Given the description of an element on the screen output the (x, y) to click on. 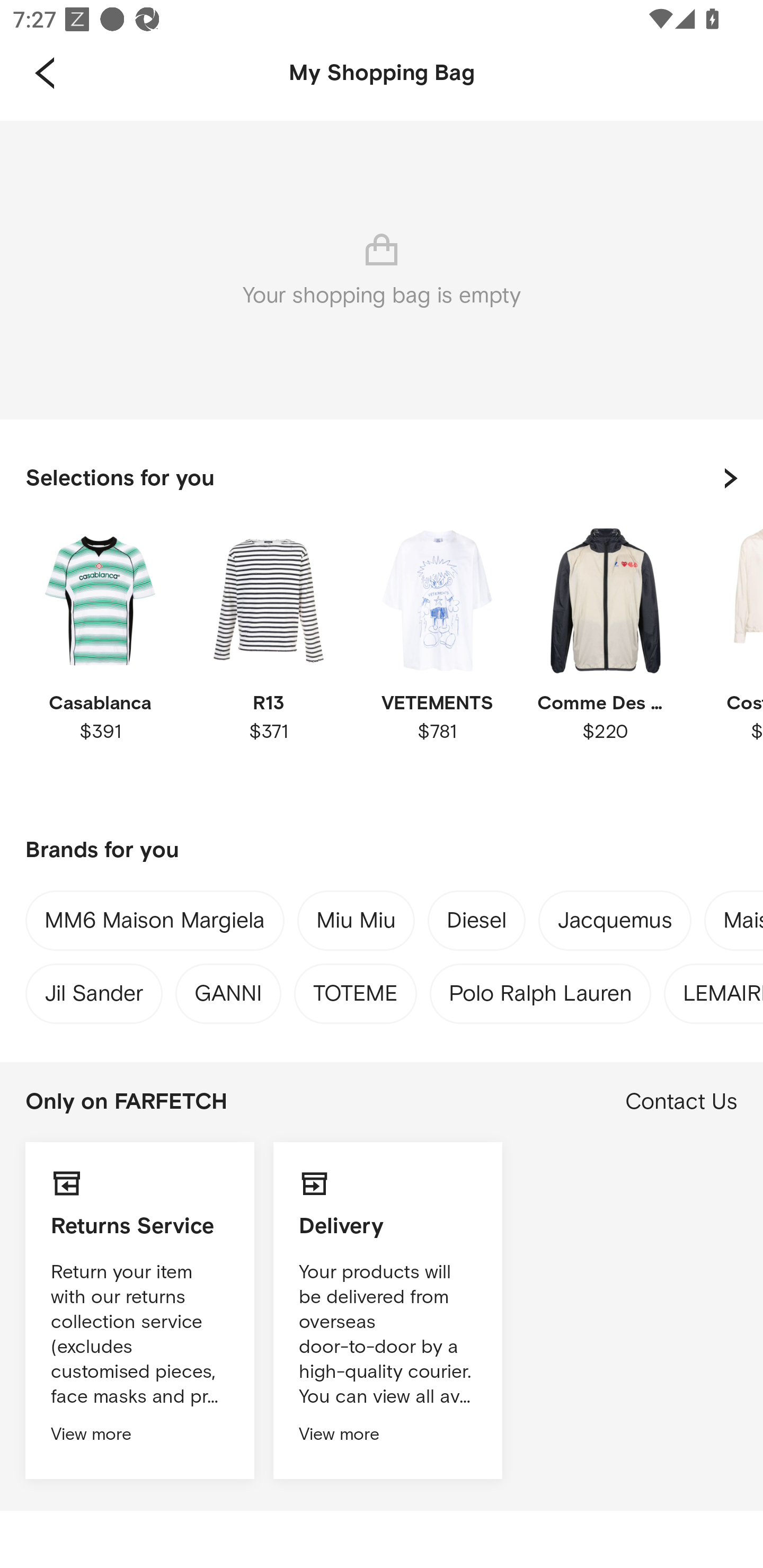
Selections for you (381, 477)
Casablanca $391 (100, 660)
R13 $371 (268, 660)
VETEMENTS $781 (436, 660)
Comme Des Garçons Play $220 (605, 660)
Brands for you (381, 850)
MM6 Maison Margiela (154, 924)
Miu Miu (355, 922)
Diesel (476, 924)
Jacquemus (614, 924)
Jil Sander (93, 988)
GANNI (227, 988)
TOTEME (355, 988)
Polo Ralph Lauren (539, 988)
LEMAIRE (722, 988)
Contact Us (680, 1101)
